Given the description of an element on the screen output the (x, y) to click on. 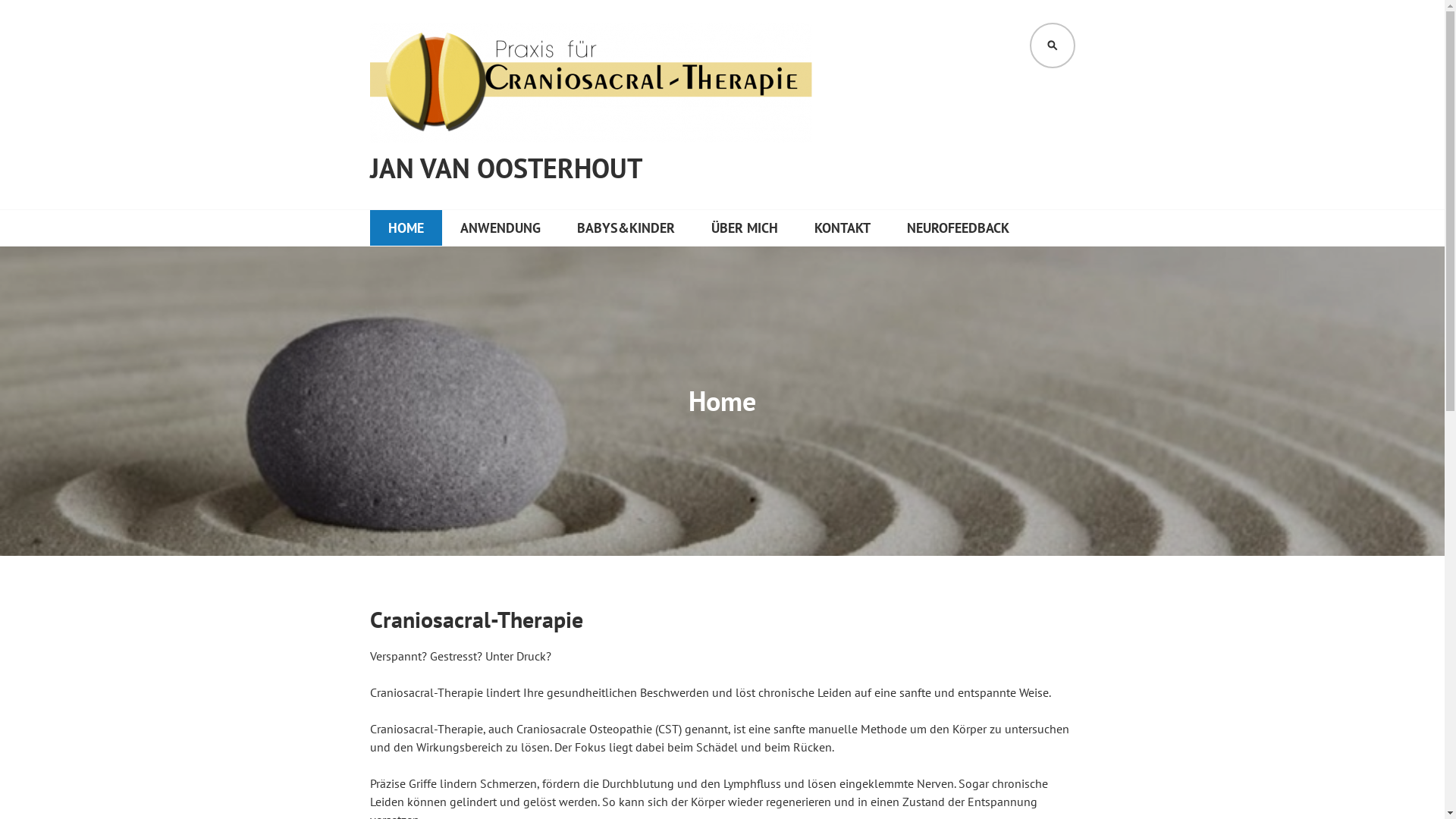
BABYS&KINDER Element type: text (625, 228)
ANWENDUNG Element type: text (499, 228)
JAN VAN OOSTERHOUT Element type: text (506, 168)
KONTAKT Element type: text (842, 228)
HOME Element type: text (406, 228)
SUCHEN Element type: text (1052, 45)
NEUROFEEDBACK Element type: text (957, 228)
